Given the description of an element on the screen output the (x, y) to click on. 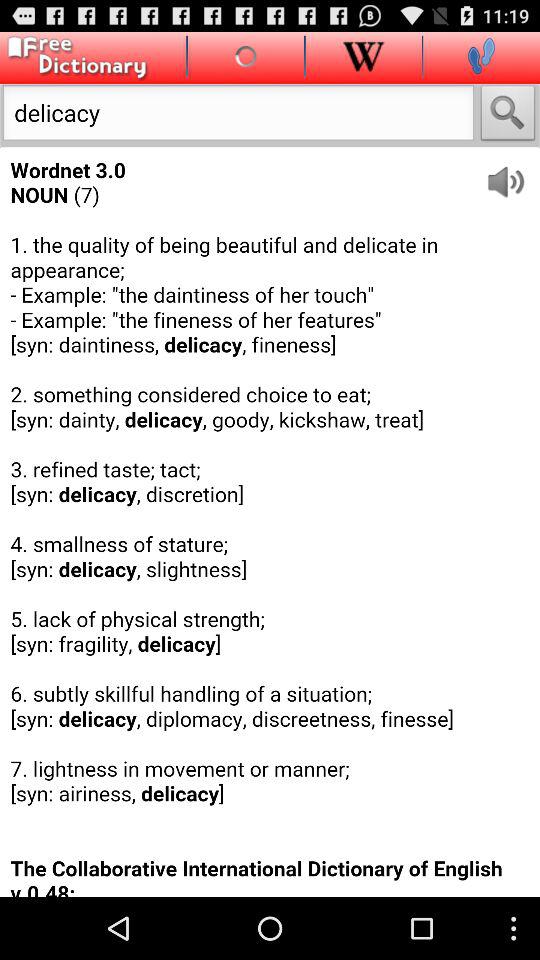
use search function (507, 115)
